Given the description of an element on the screen output the (x, y) to click on. 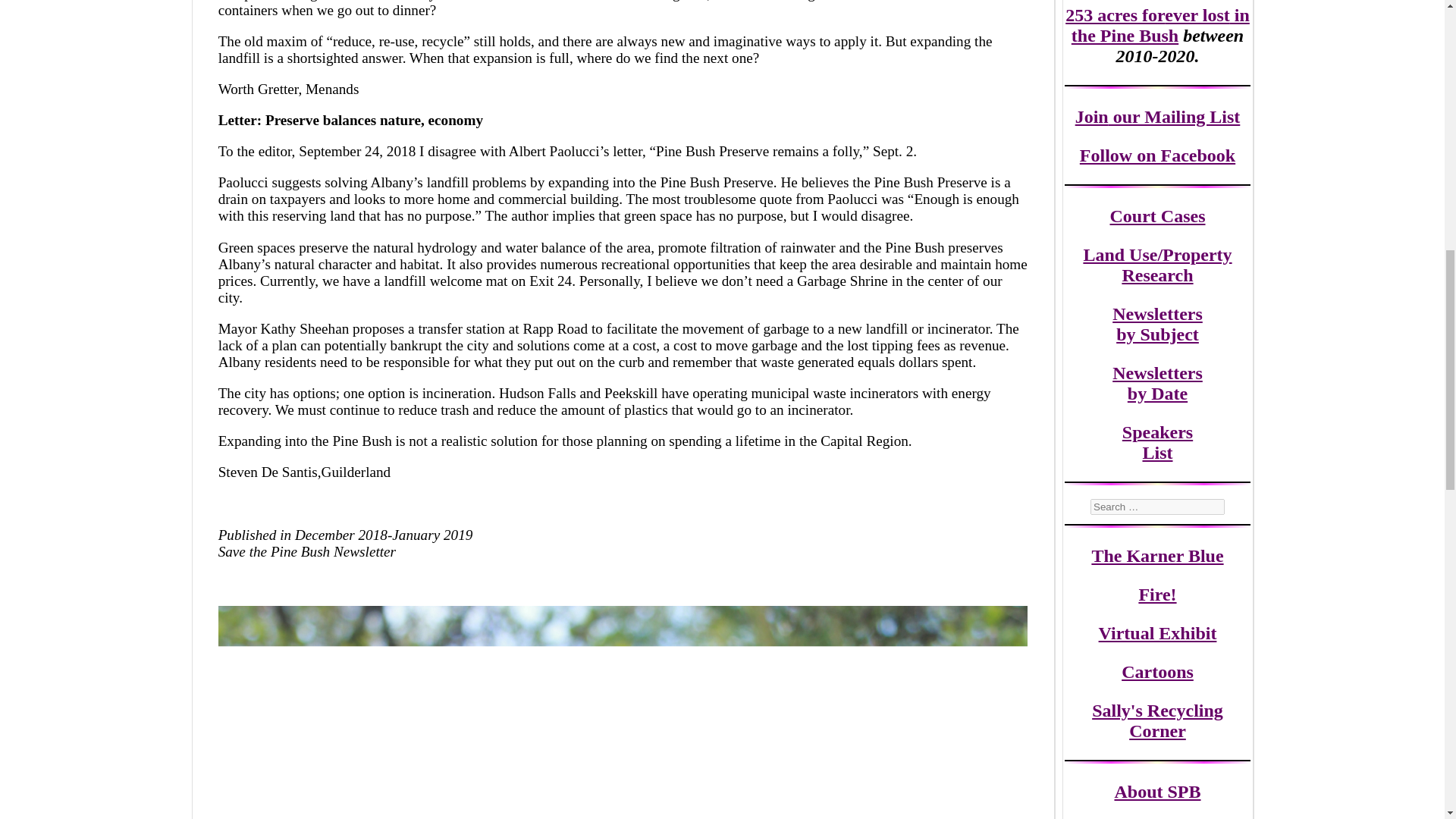
The Karner Blue (1156, 555)
Follow on Facebook (1157, 155)
Fire! (1157, 594)
ever lost in the Pine Bush (1160, 24)
Search Newsletter Archives (1157, 506)
253 acres fo (1111, 14)
Virtual Exhibit (1158, 632)
Cartoons (1157, 671)
Sally's Recycling Corner (1157, 721)
Court Cases (1157, 216)
